Given the description of an element on the screen output the (x, y) to click on. 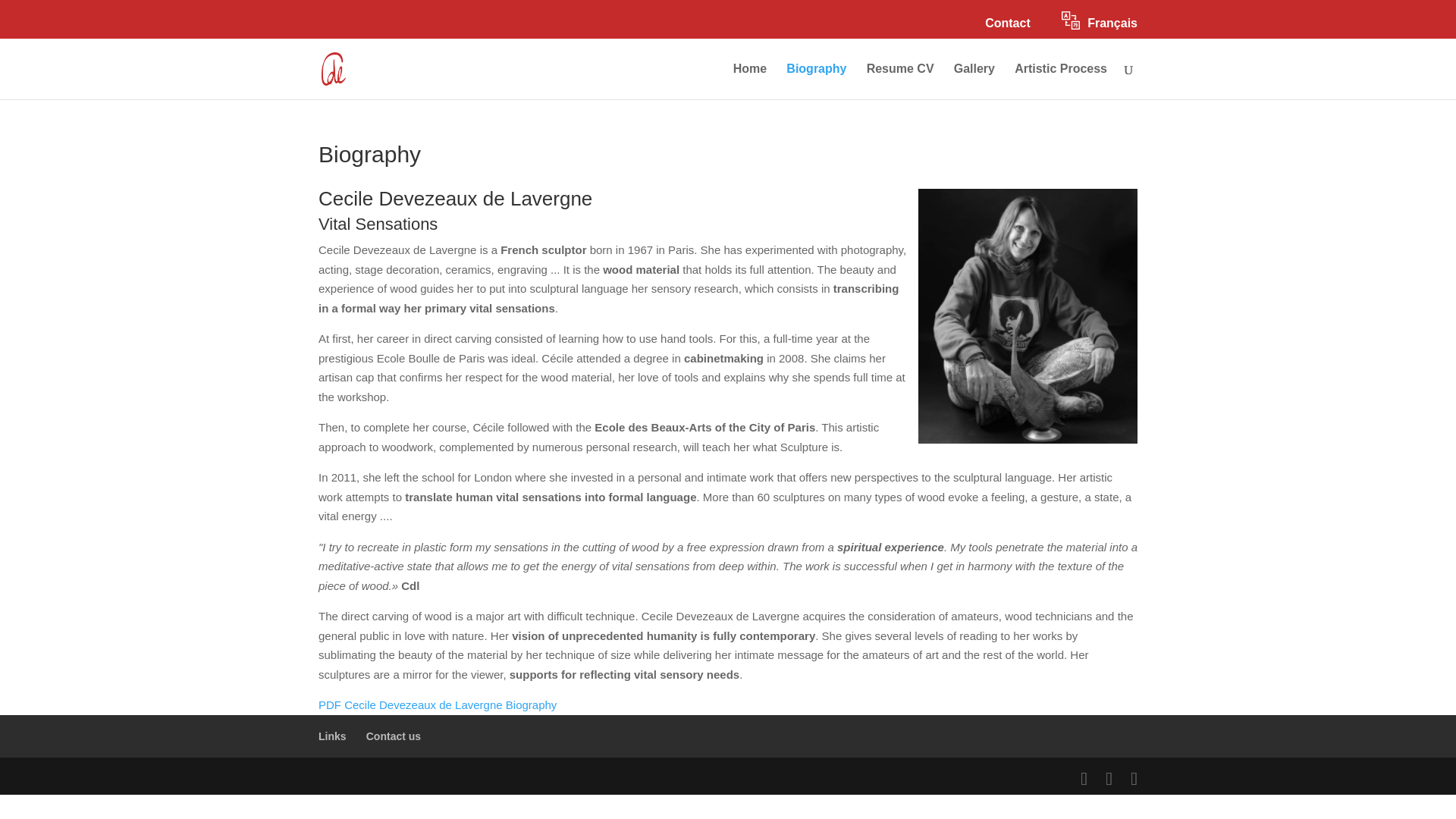
Biography (815, 81)
Contact (1007, 27)
Resume CV (900, 81)
Home (750, 81)
Artistic Process (1060, 81)
Links (332, 735)
PDF Cecile Devezeaux de Lavergne Biography (437, 704)
Gallery (973, 81)
Contact us (393, 735)
